Given the description of an element on the screen output the (x, y) to click on. 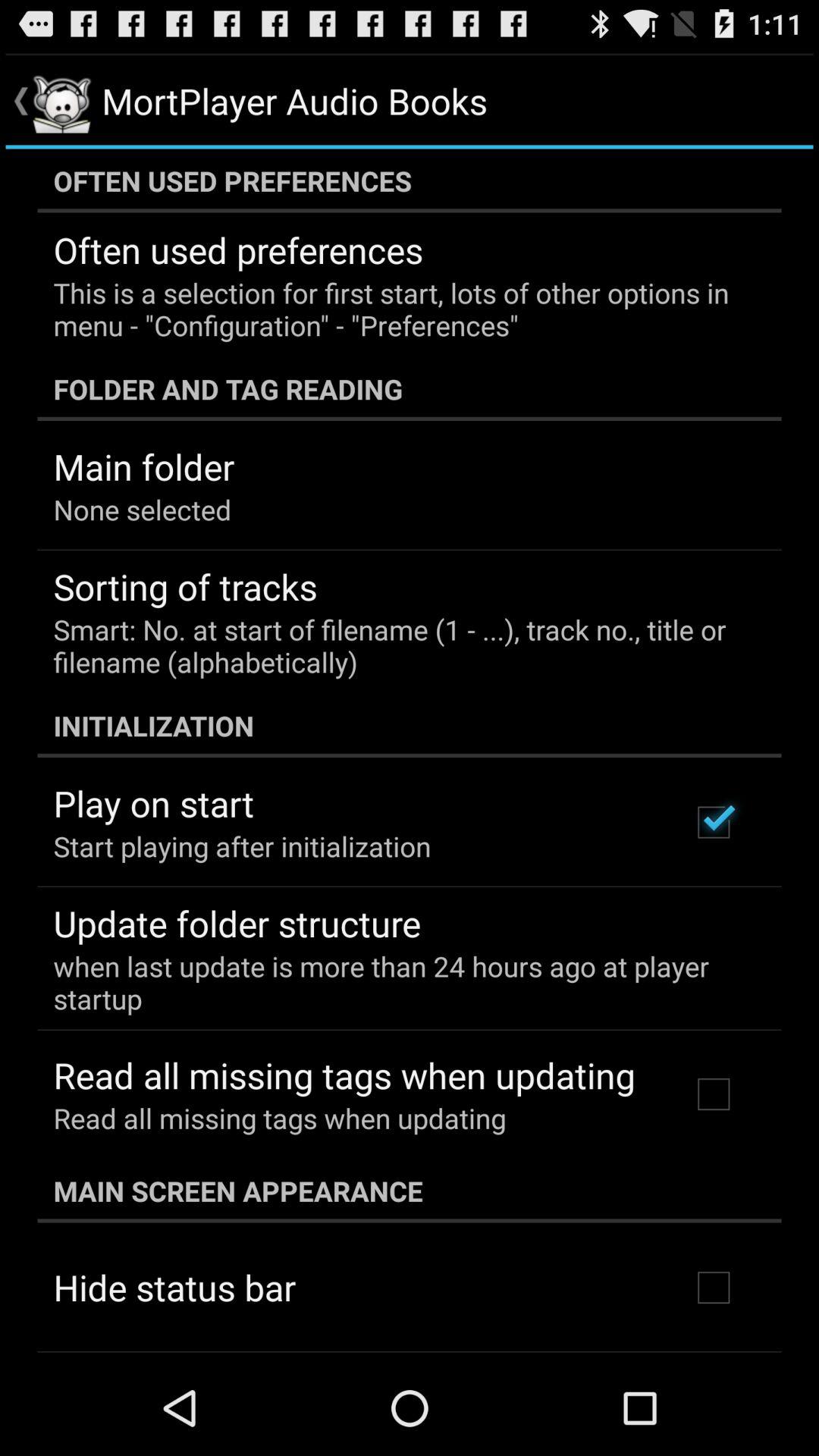
click the item below the main folder app (142, 509)
